Given the description of an element on the screen output the (x, y) to click on. 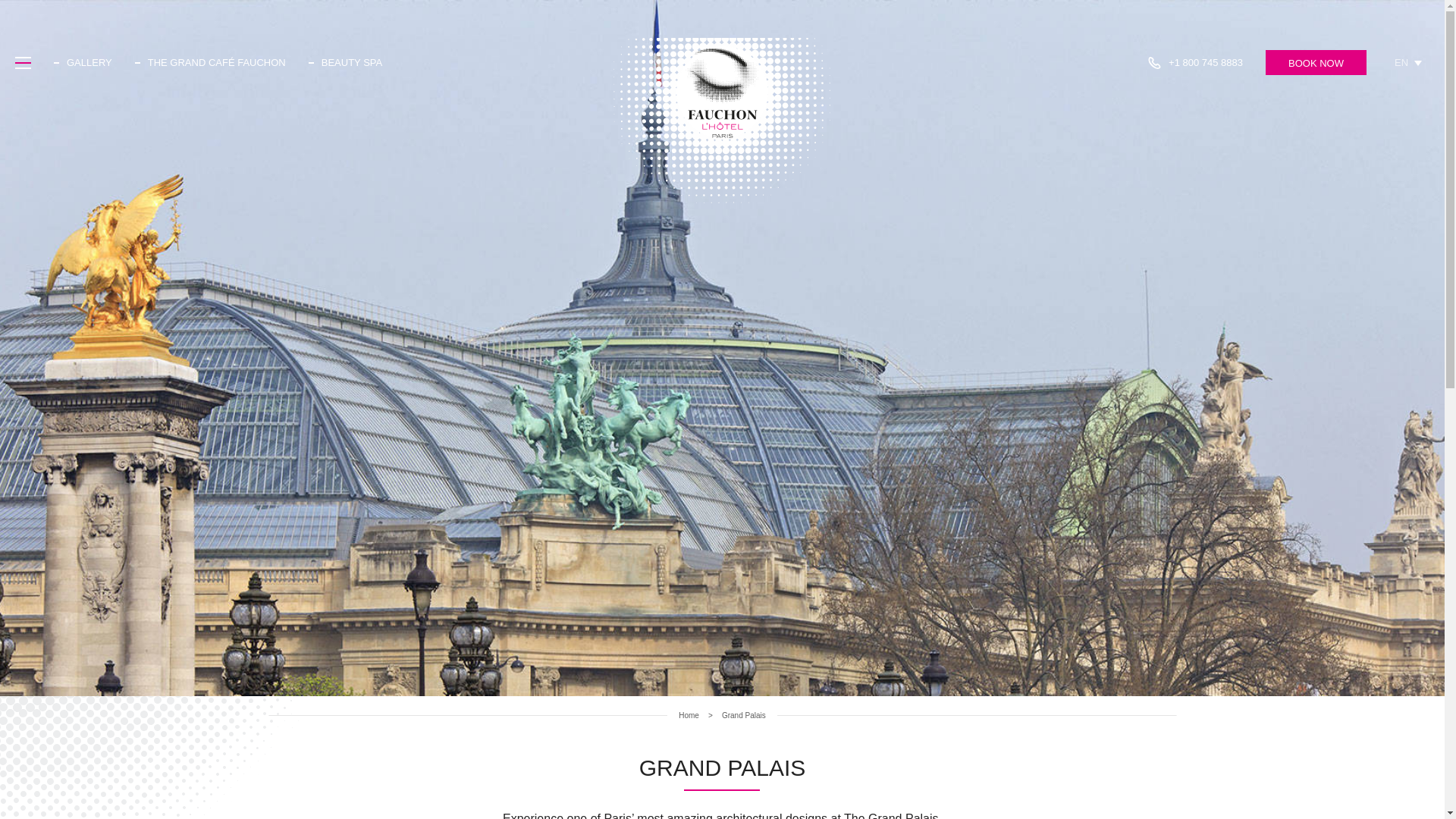
Grand Palais (743, 715)
GALLERY (89, 61)
Explore (22, 62)
BOOK NOW (1316, 62)
BEAUTY SPA (351, 61)
Home (688, 715)
